Given the description of an element on the screen output the (x, y) to click on. 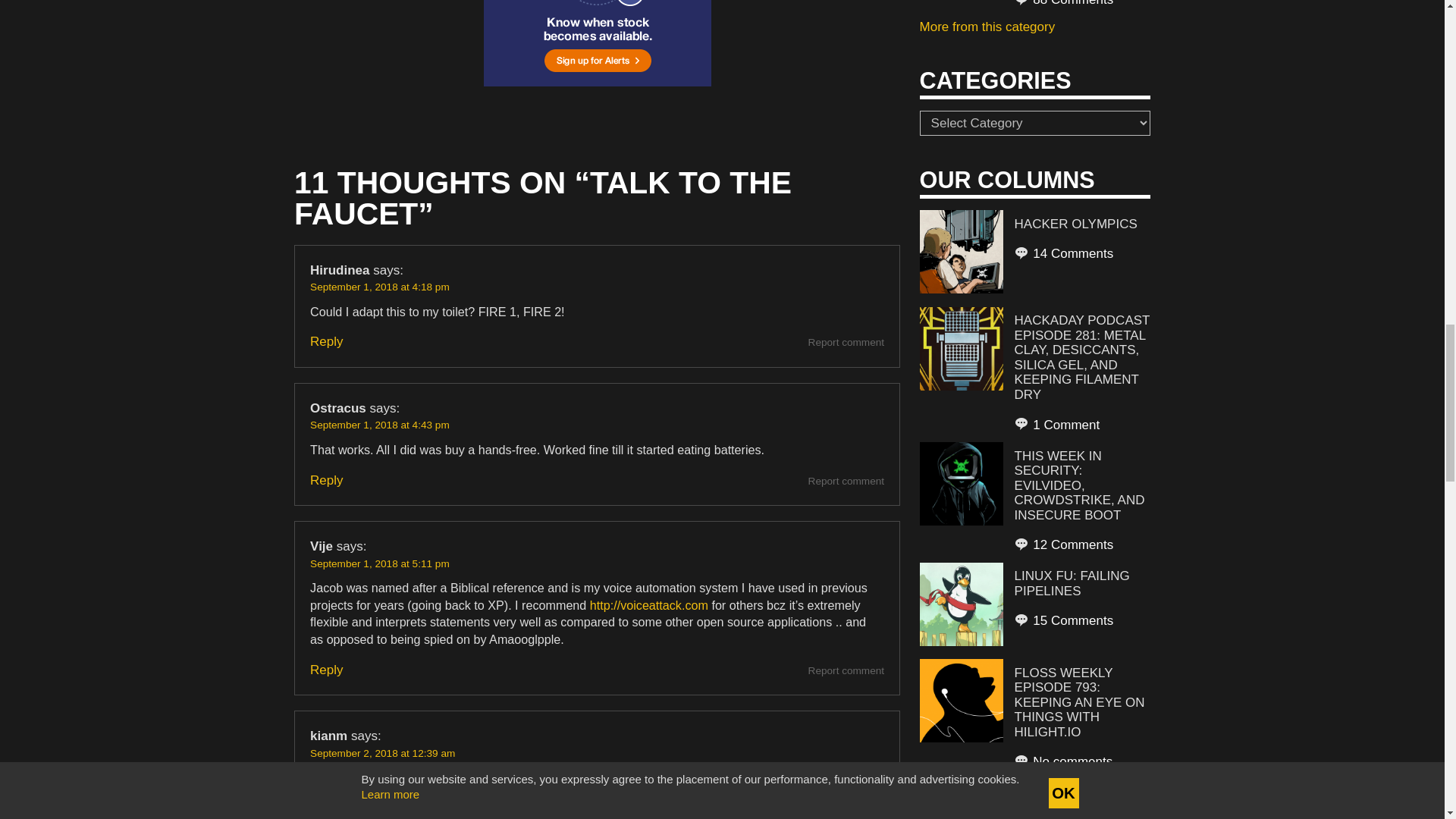
September 1, 2018 at 4:18 pm (379, 286)
Report comment (845, 342)
